Given the description of an element on the screen output the (x, y) to click on. 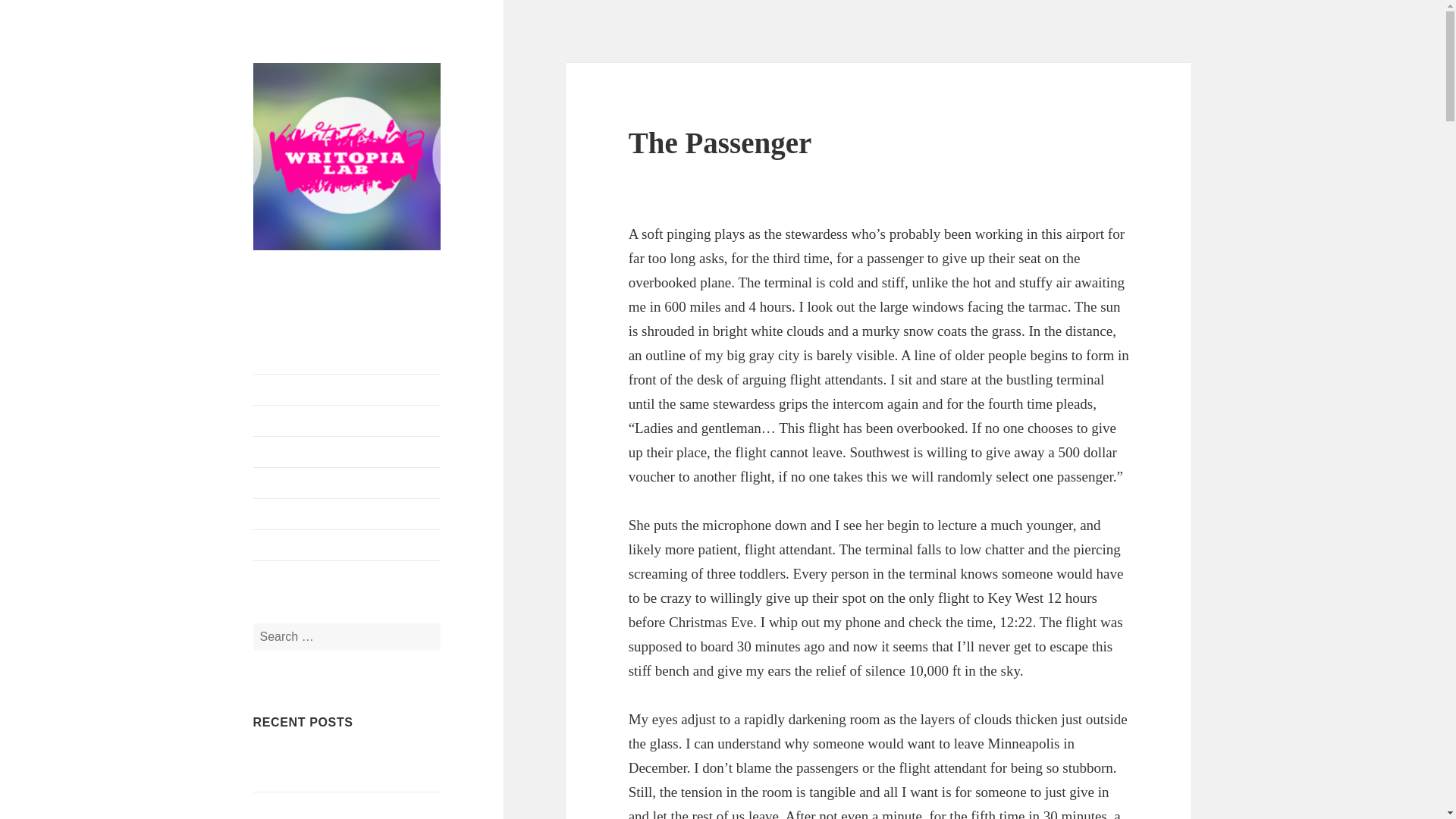
The Orwellian Future of Reproductive Rights  (346, 767)
Submissions (347, 451)
Old Hallows Eve (294, 807)
Past Issues (347, 482)
Masthead (347, 420)
Writopia Lab (347, 544)
